Given the description of an element on the screen output the (x, y) to click on. 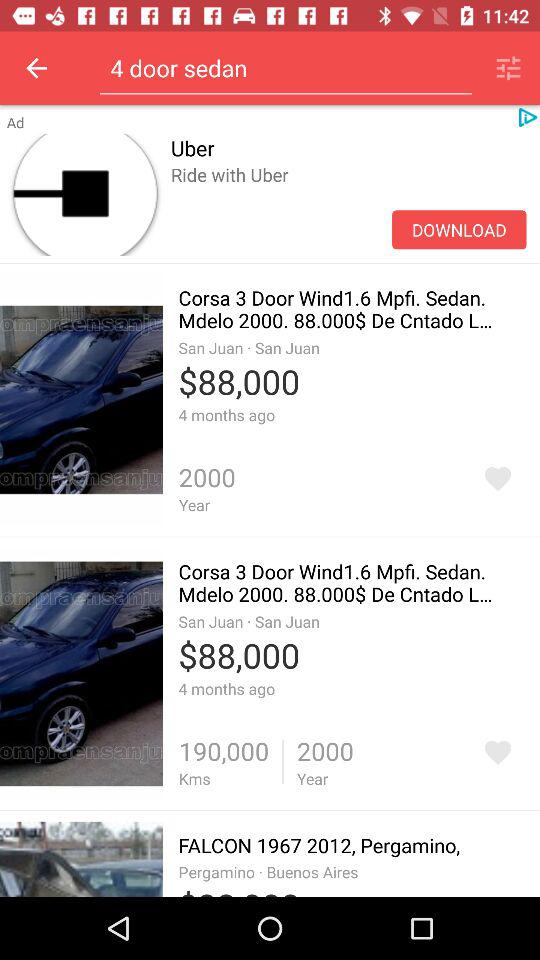
likes button (497, 752)
